Given the description of an element on the screen output the (x, y) to click on. 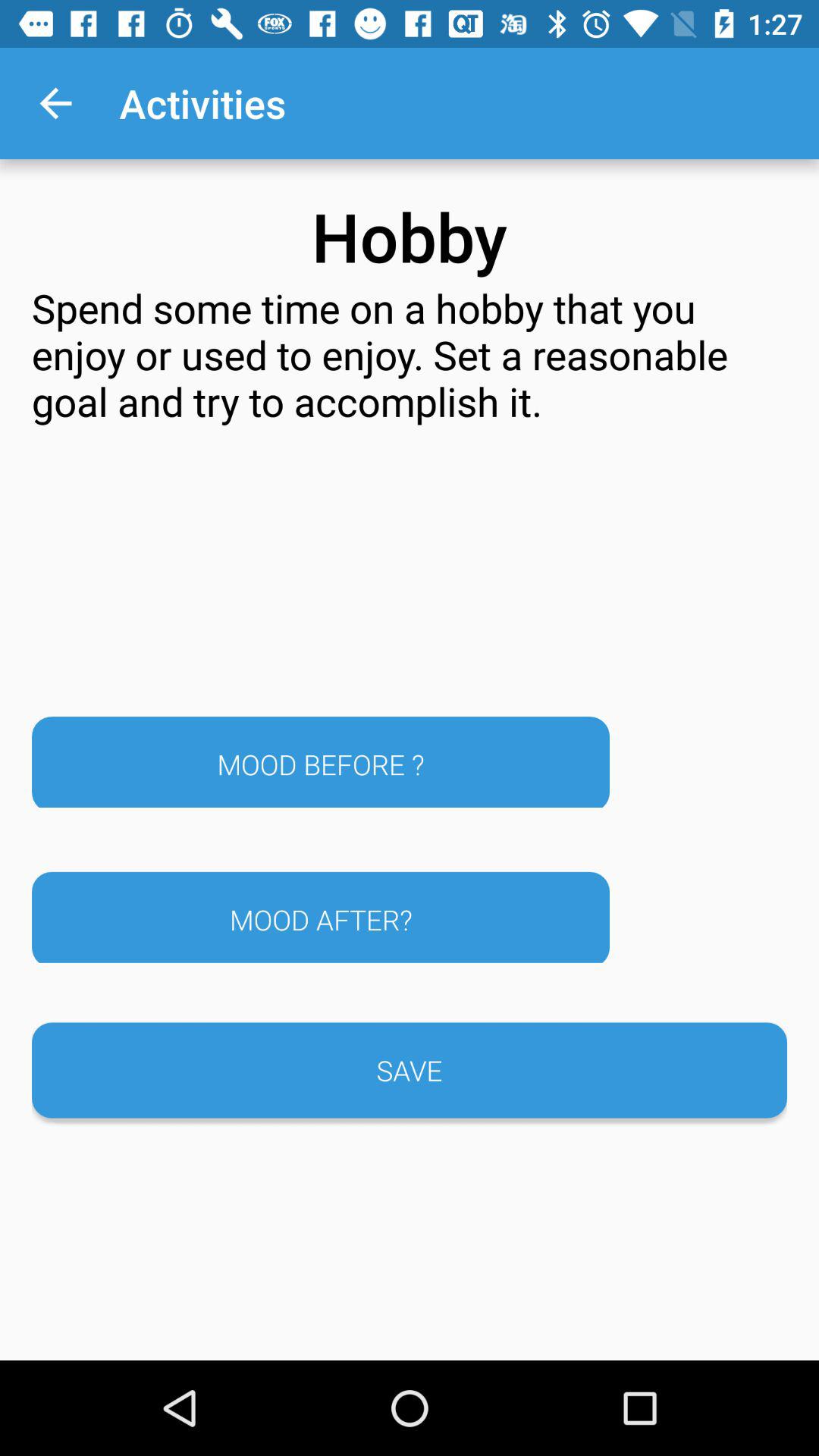
select the save button (409, 1070)
